Given the description of an element on the screen output the (x, y) to click on. 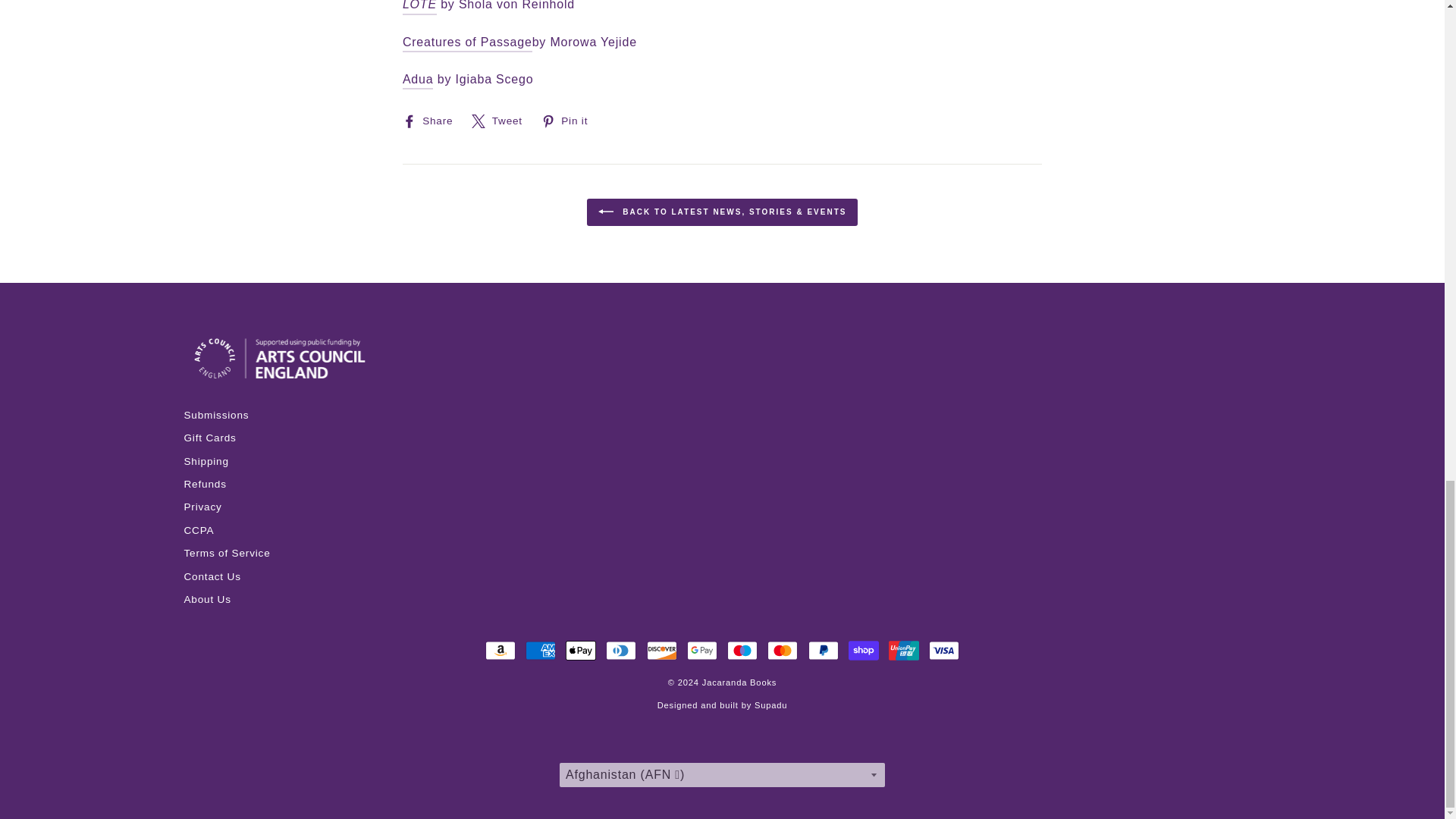
PayPal (823, 650)
Google Pay (702, 650)
Visa (943, 650)
Diners Club (620, 650)
lote (419, 7)
American Express (540, 650)
Tweet on X (502, 120)
Maestro (741, 650)
Share on Facebook (433, 120)
Union Pay (903, 650)
Discover (661, 650)
Shop Pay (863, 650)
Apple Pay (580, 650)
Pin on Pinterest (569, 120)
adua (418, 80)
